Given the description of an element on the screen output the (x, y) to click on. 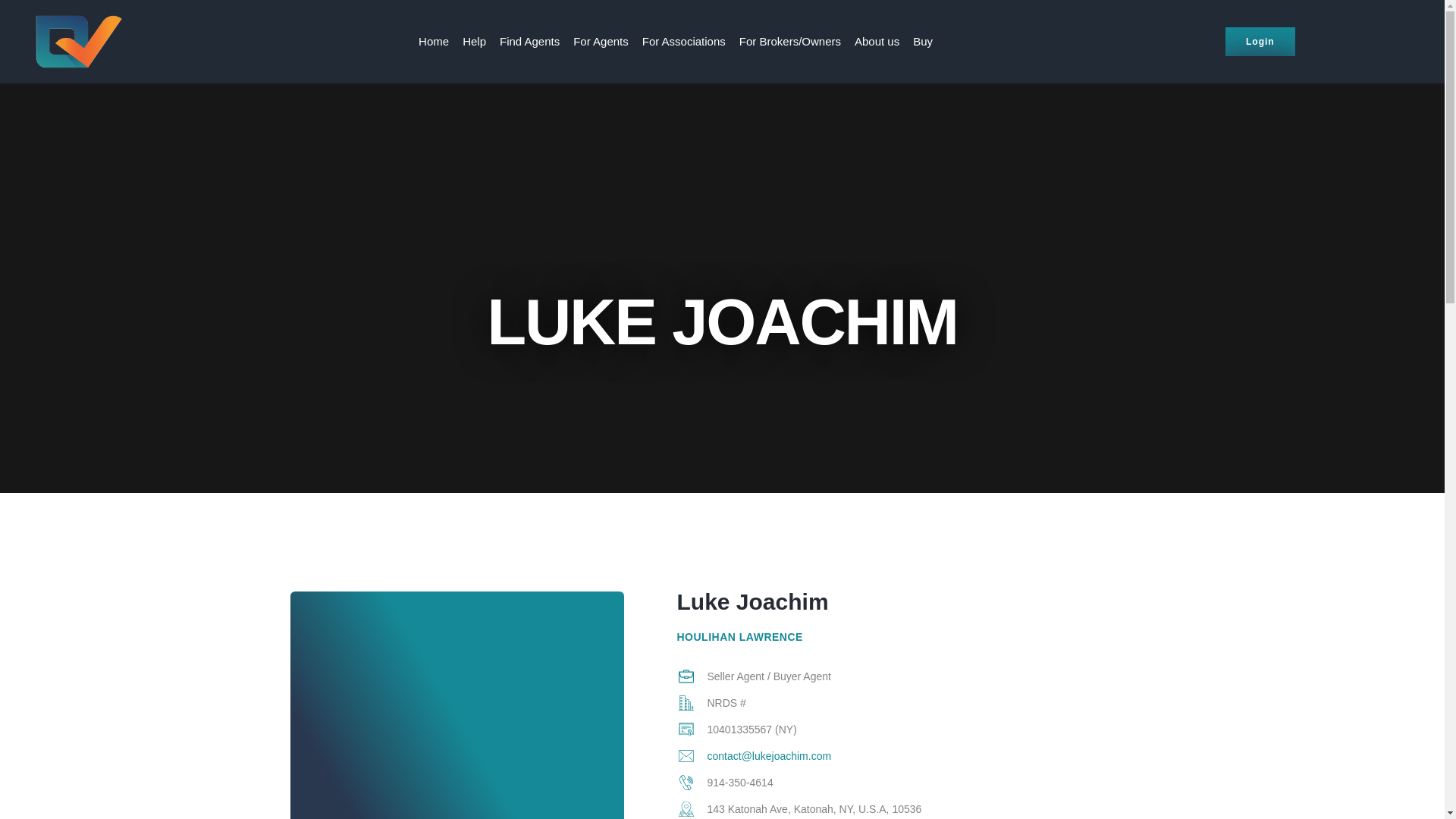
Buy (922, 41)
For Associations (683, 41)
For Agents (601, 41)
Find Agents (528, 41)
About us (877, 41)
Help (474, 41)
Home (432, 41)
